Given the description of an element on the screen output the (x, y) to click on. 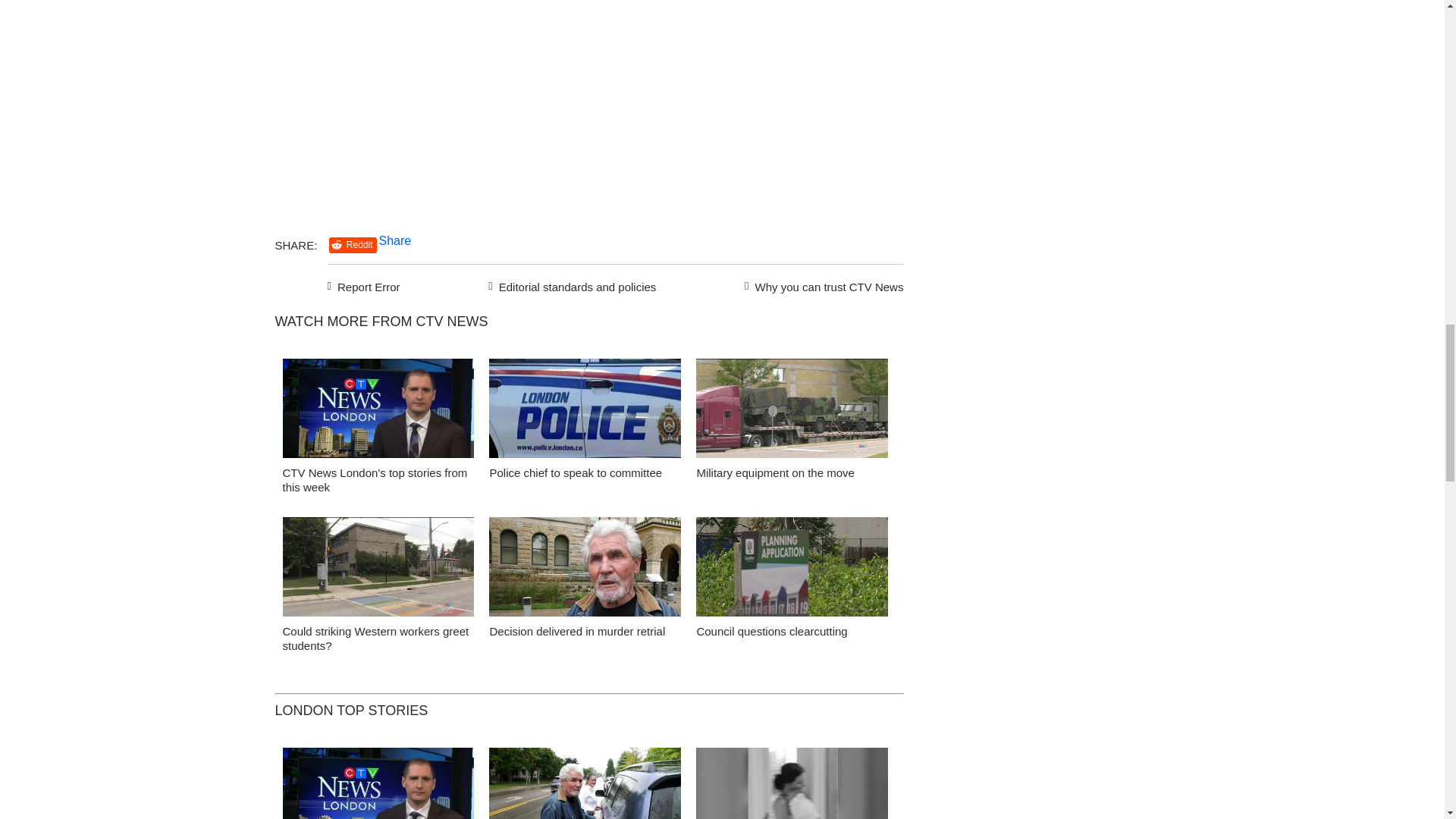
Decision delivered in murder retrial (577, 631)
Military equipment on the move (791, 412)
Could striking Western workers greet students? (378, 570)
false (791, 407)
Report Error (363, 284)
false (791, 566)
London police (585, 412)
false (378, 566)
false (378, 407)
Council questions clearcutting  (791, 570)
